Given the description of an element on the screen output the (x, y) to click on. 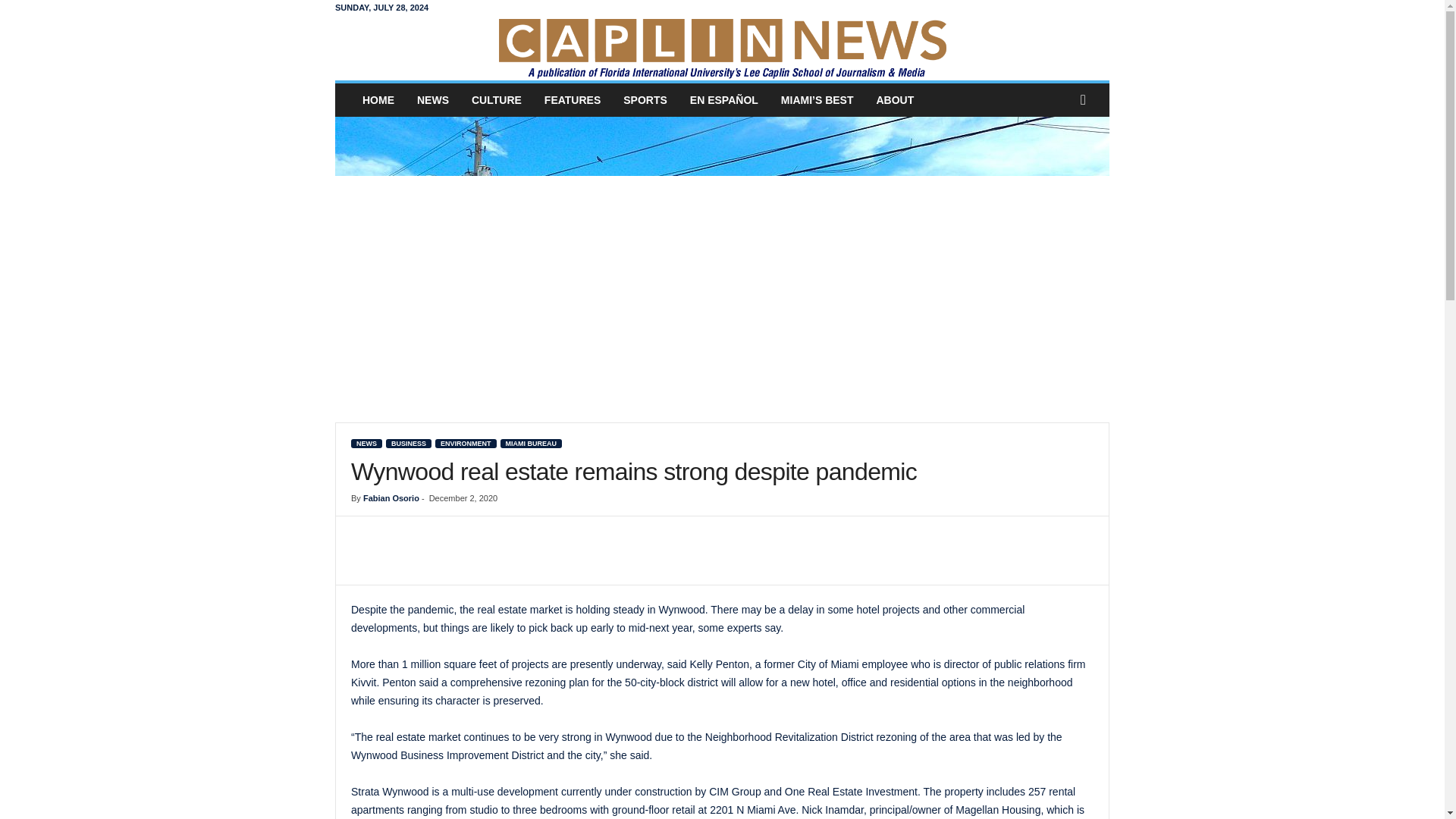
NEWS (433, 100)
HOME (378, 100)
Caplin News (721, 47)
